Given the description of an element on the screen output the (x, y) to click on. 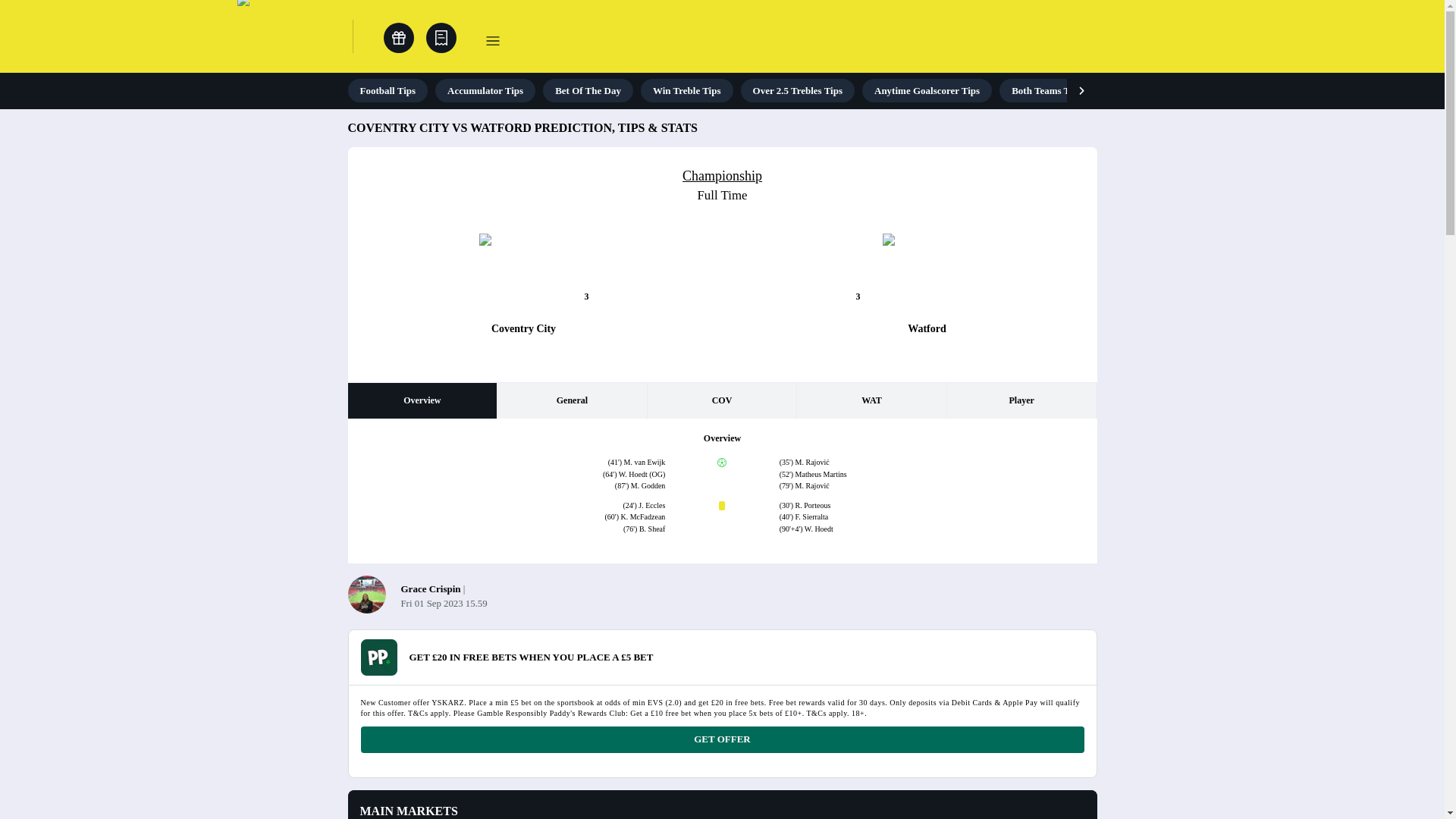
Over 2.5 Trebles Tips (797, 90)
Anytime Goalscorer Tips (926, 90)
Championship (721, 176)
Accumulator Tips (485, 90)
Skybet Request A Bet (1197, 90)
Both Teams To Score Tips (1065, 90)
Open bet slip (441, 37)
Overview (421, 400)
Football Tips (387, 90)
Win Treble Tips (686, 90)
Bet Of The Day (588, 90)
General (571, 400)
Sky Bet BuildABet Tips (1324, 90)
